Given the description of an element on the screen output the (x, y) to click on. 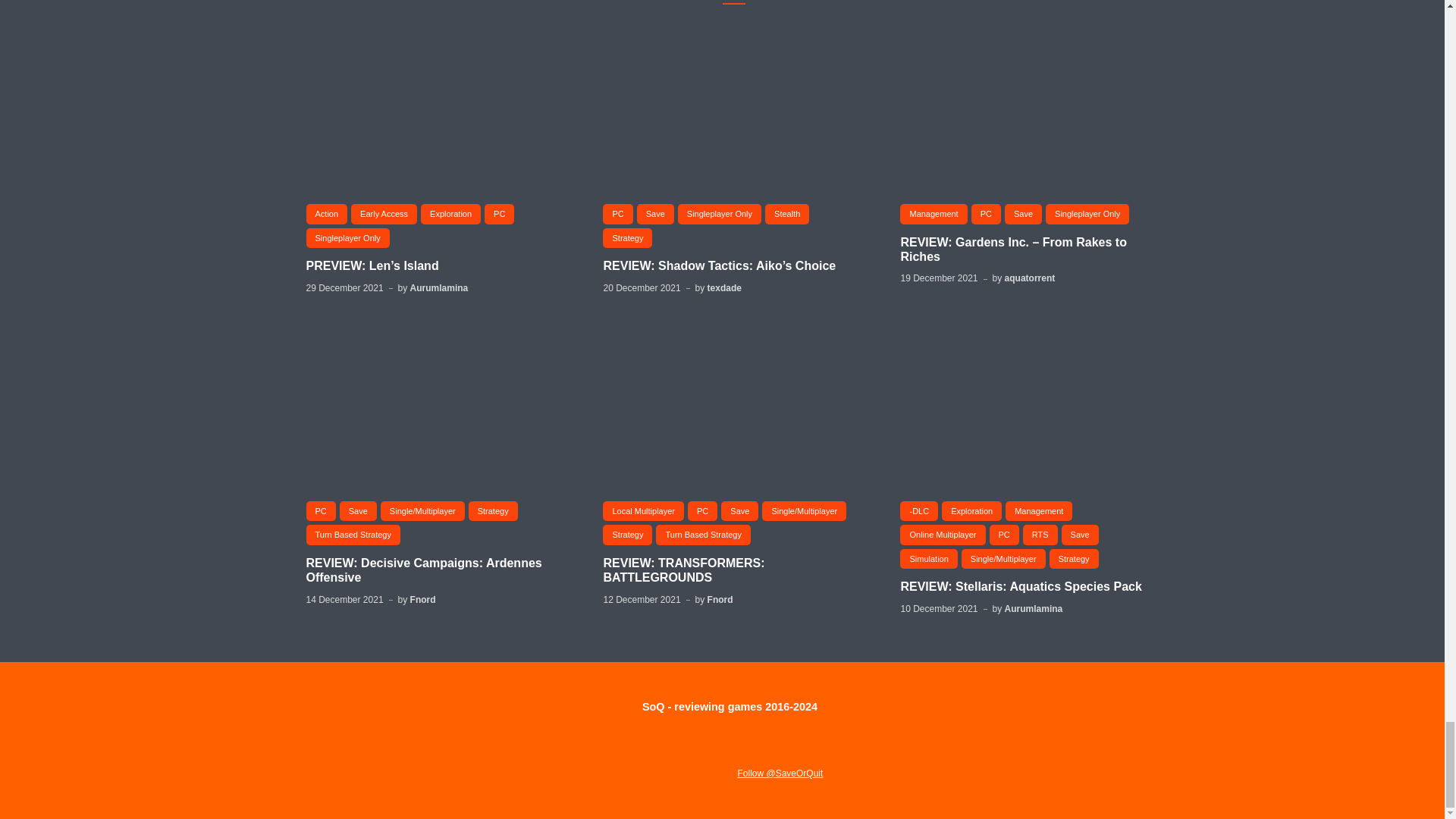
Join SoQ Discord (700, 773)
Join SoQ Steam Group (649, 773)
